Given the description of an element on the screen output the (x, y) to click on. 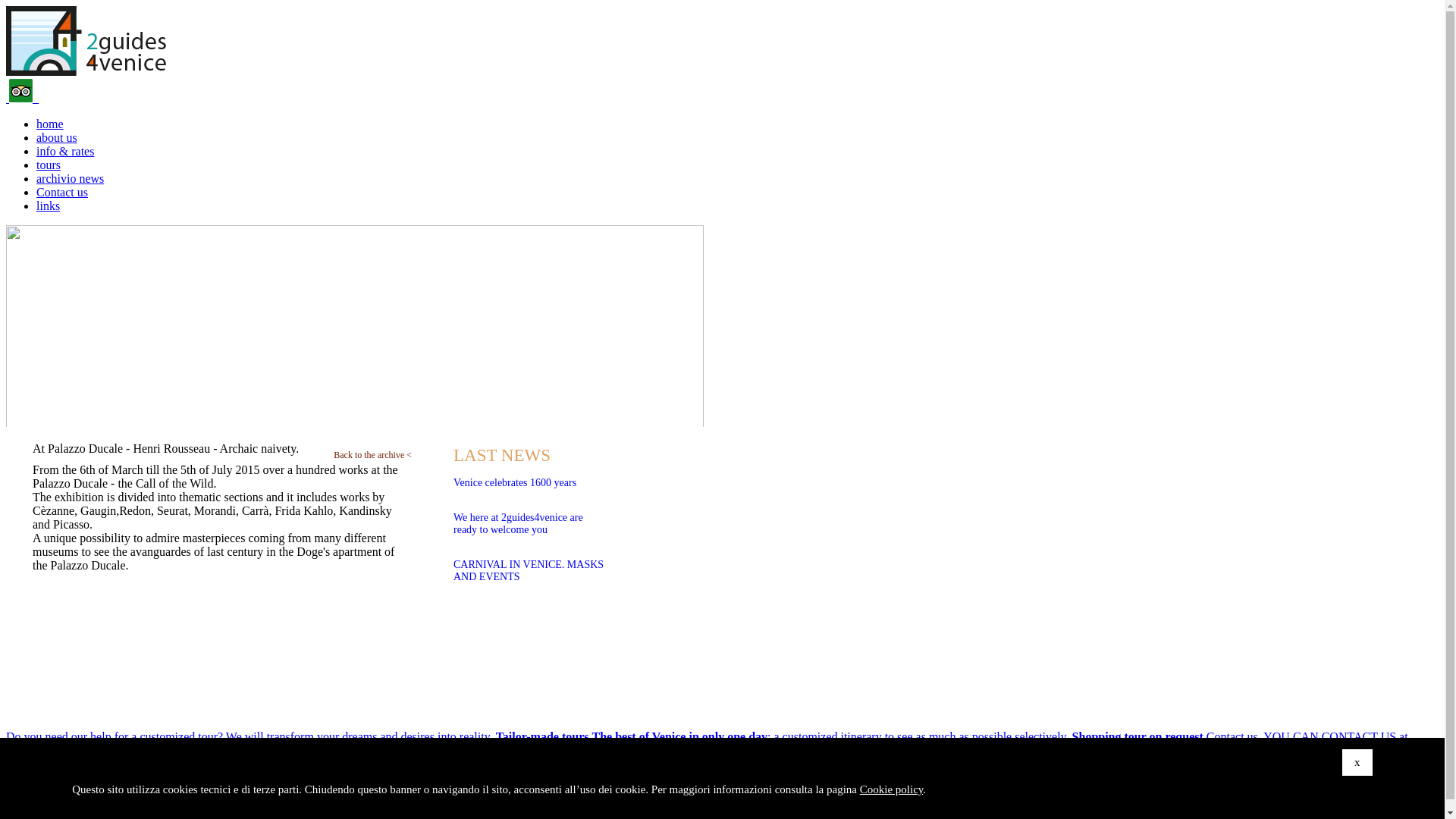
Cookie policy Element type: text (891, 789)
about us Element type: text (56, 137)
Cookie policy Element type: text (130, 802)
home Element type: text (49, 123)
x Element type: text (1357, 762)
Back to the archive < Element type: text (372, 455)
Credits Element type: text (189, 802)
We here at 2guides4venice are ready to welcome you Element type: text (580, 529)
CARNIVAL IN VENICE. MASKS AND EVENTS Element type: text (580, 576)
info@2guides4venice.com Element type: text (483, 774)
info@2guides4venice.com Element type: text (512, 788)
archivio news Element type: text (69, 178)
tours Element type: text (48, 164)
Contact us Element type: text (61, 191)
info & rates Element type: text (65, 150)
Venice celebrates 1600 years Element type: text (580, 488)
Privacy policy Element type: text (52, 802)
links Element type: text (47, 205)
